Given the description of an element on the screen output the (x, y) to click on. 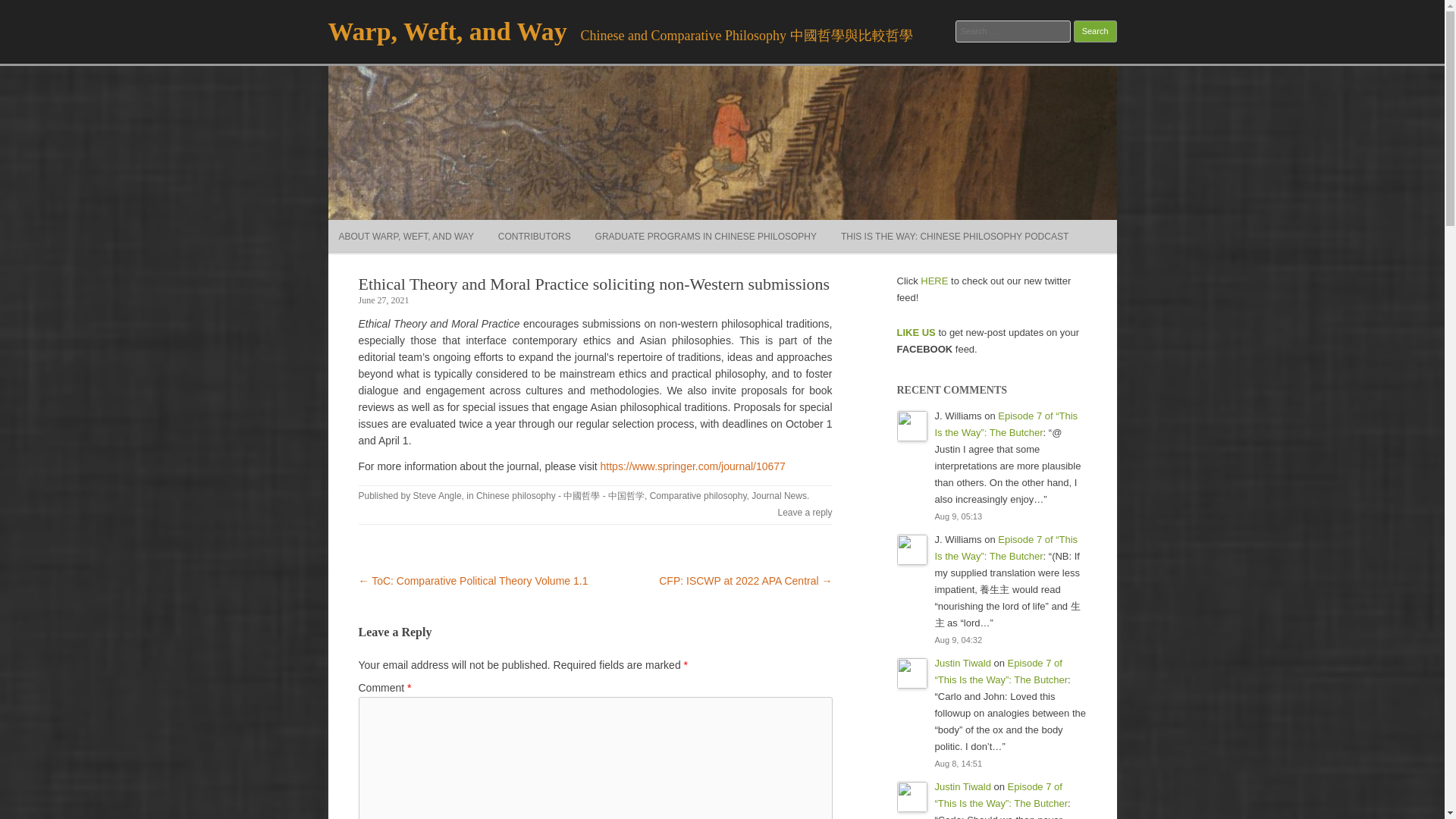
Search (1095, 31)
Leave a reply (804, 511)
Skip to content (757, 225)
LIKE US (915, 332)
Journal News (778, 495)
8:48 am (383, 299)
GRADUATE PROGRAMS IN CHINESE PHILOSOPHY (705, 236)
Warp, Weft, and Way (446, 31)
View all posts by Steve Angle (437, 495)
Search (1095, 31)
